Given the description of an element on the screen output the (x, y) to click on. 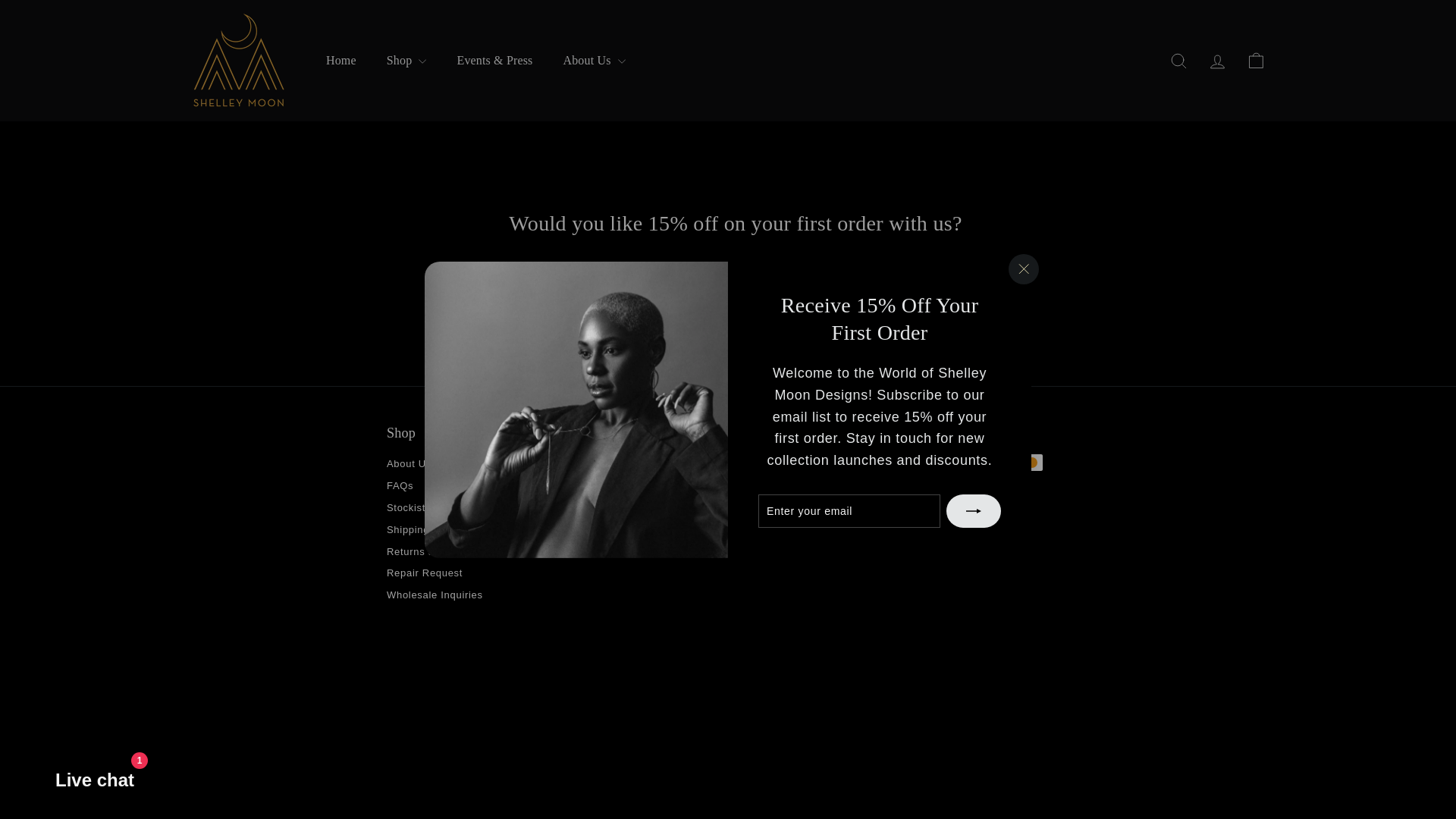
Apple Pay (959, 462)
Shelley Moon Designs on Instagram (568, 527)
Mastercard (1028, 462)
Visa (959, 488)
Google Pay (994, 462)
instagram (568, 527)
American Express (924, 462)
Shop Pay (924, 488)
